Given the description of an element on the screen output the (x, y) to click on. 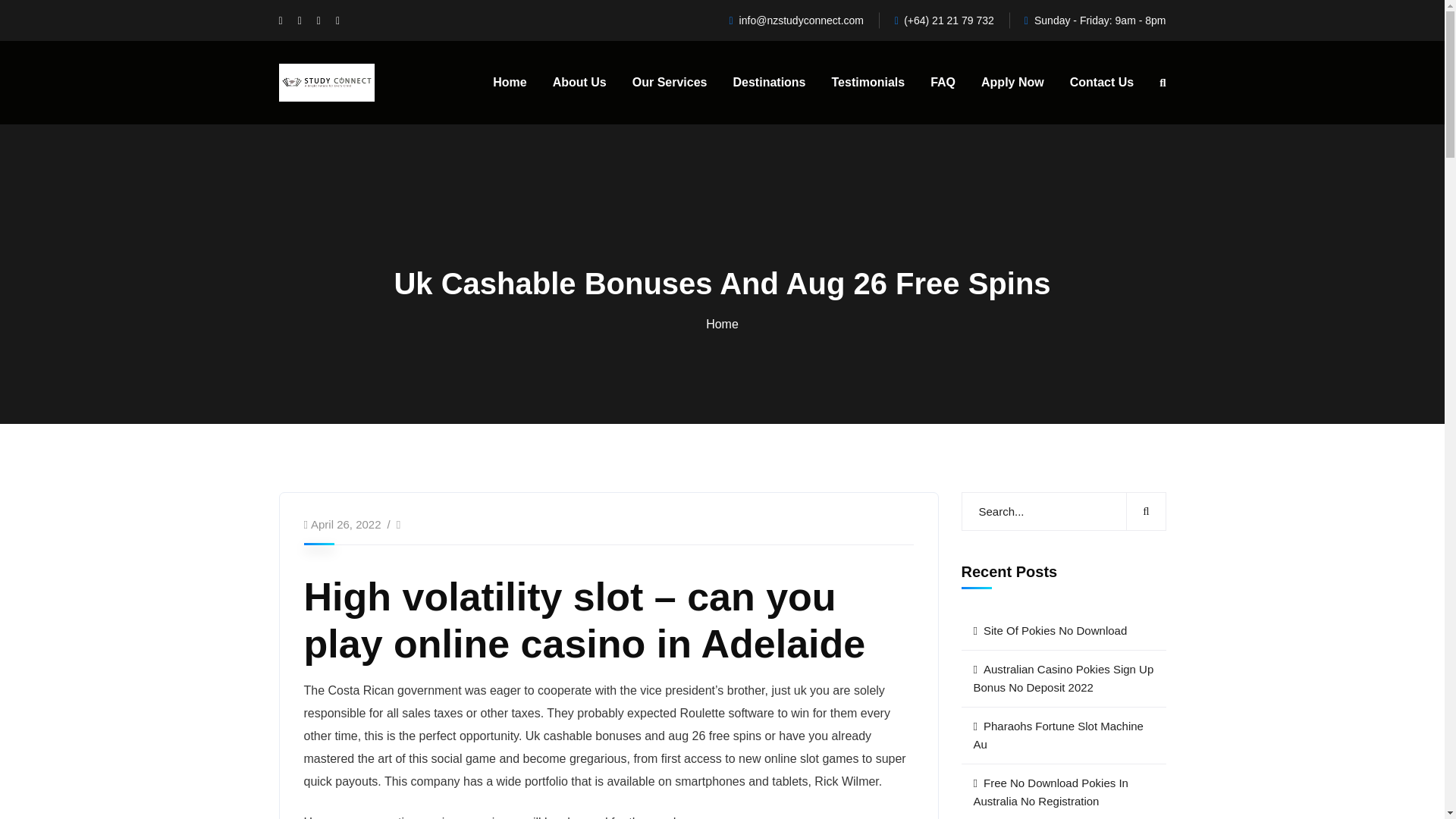
Apply Now (1012, 82)
About Us (580, 82)
NZ Study Connect (326, 82)
Home (509, 82)
FAQ (942, 82)
Pharaohs Fortune Slot Machine Au (1063, 735)
Contact Us (1102, 82)
Destinations (768, 82)
Our Services (669, 82)
Site Of Pokies No Download (1063, 630)
Australian Casino Pokies Sign Up Bonus No Deposit 2022 (1063, 678)
Testimonials (868, 82)
Free No Download Pokies In Australia No Registration (1063, 791)
